Given the description of an element on the screen output the (x, y) to click on. 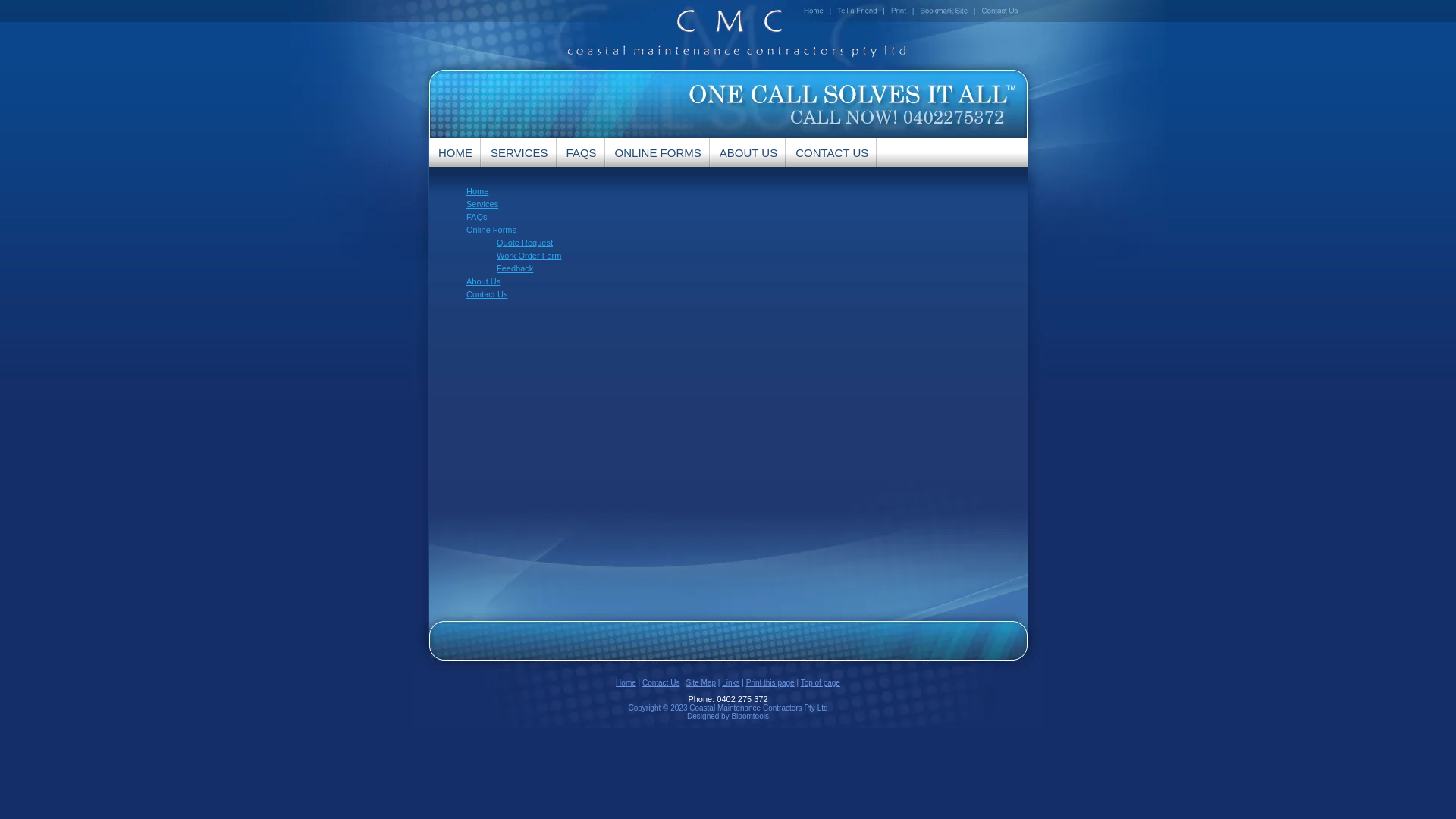
Links Element type: text (730, 682)
Contact Us Element type: text (660, 682)
SERVICES Element type: text (519, 152)
Home Element type: text (477, 190)
Work Order Form Element type: text (528, 255)
Top of page Element type: text (820, 682)
HOME Element type: text (455, 152)
Contact Us Element type: text (486, 293)
Print this page Element type: text (770, 682)
Home Element type: text (625, 682)
About Us Element type: text (483, 280)
ONLINE FORMS Element type: text (657, 152)
ABOUT US Element type: text (748, 152)
FAQS Element type: text (581, 152)
Quote Request Element type: text (524, 242)
CONTACT US Element type: text (831, 152)
Online Forms Element type: text (491, 229)
Bloomtools Element type: text (749, 716)
Site Map Element type: text (700, 682)
Services Element type: text (482, 203)
FAQs Element type: text (476, 216)
Feedback Element type: text (514, 268)
